Given the description of an element on the screen output the (x, y) to click on. 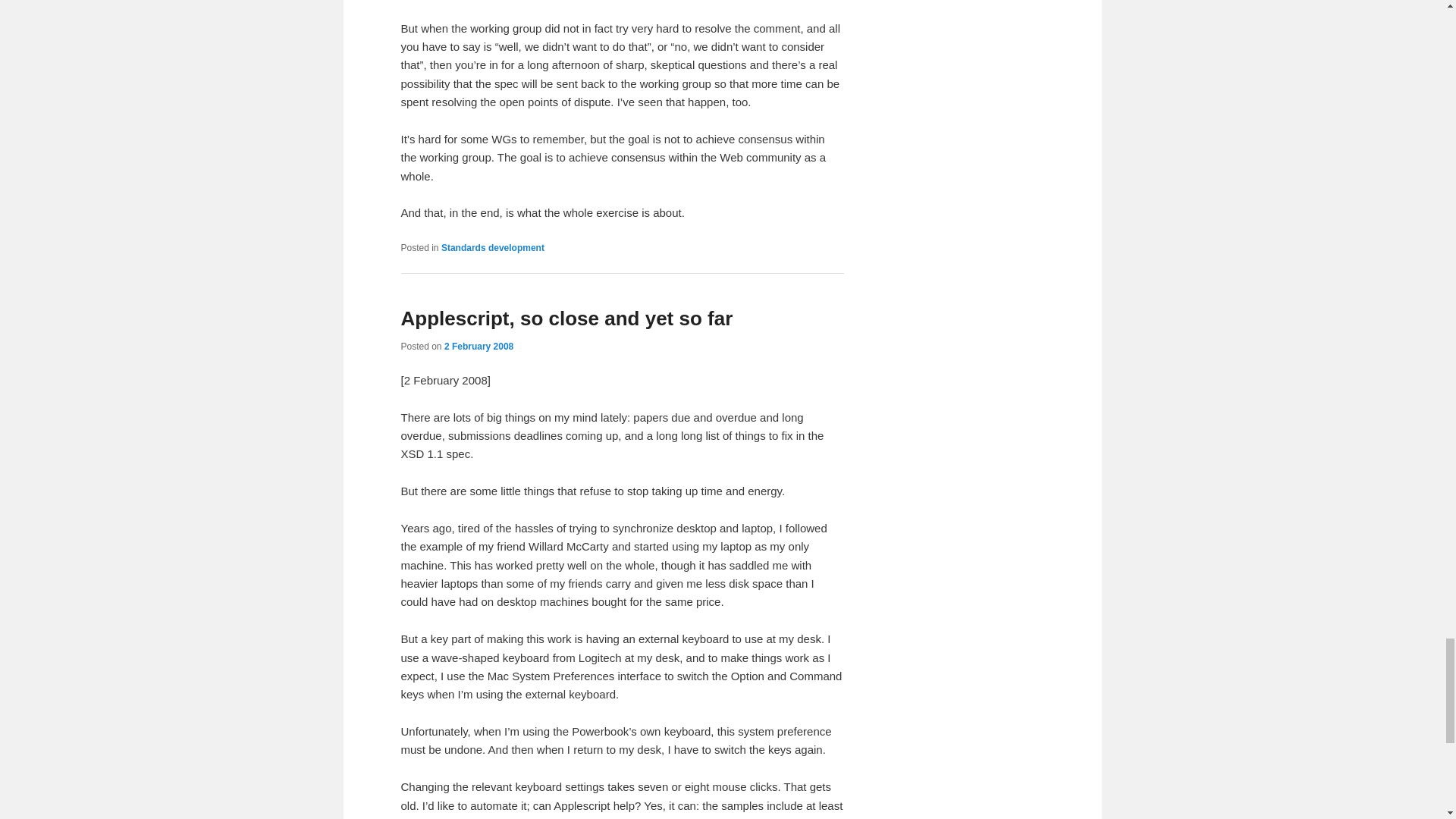
20:08 (478, 346)
2 February 2008 (478, 346)
Standards development (492, 247)
Applescript, so close and yet so far (566, 318)
